Given the description of an element on the screen output the (x, y) to click on. 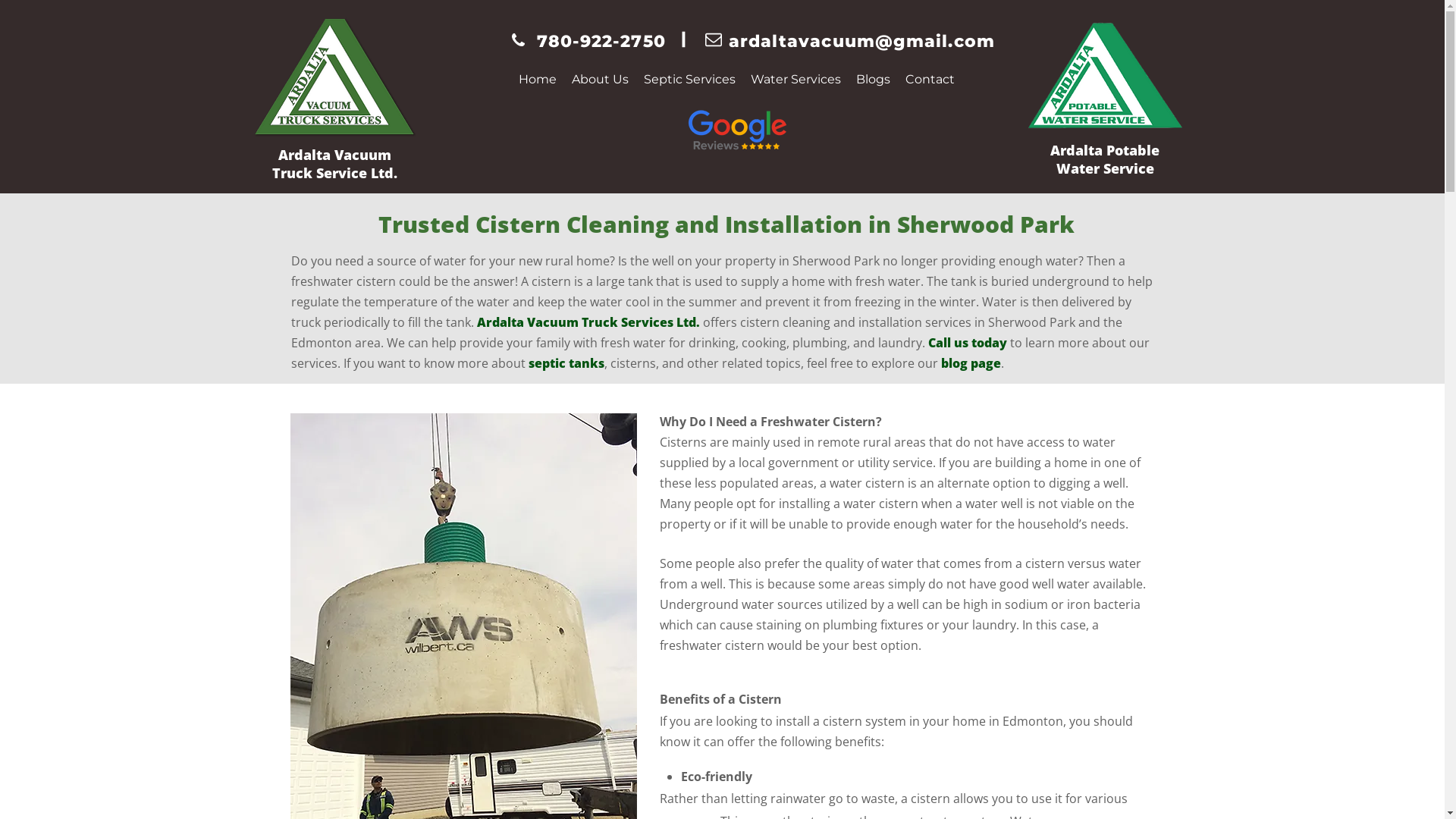
septic tanks Element type: text (565, 364)
Blogs Element type: text (872, 78)
About Us Element type: text (600, 78)
ardaltavacuum@gmail.com Element type: text (861, 44)
Call us today Element type: text (967, 344)
780-922-2750 Element type: text (600, 44)
Home Element type: text (537, 78)
Ardalta Vacuum Truck Services Ltd. Element type: text (587, 324)
blog page Element type: text (970, 364)
Contact Element type: text (929, 78)
